Given the description of an element on the screen output the (x, y) to click on. 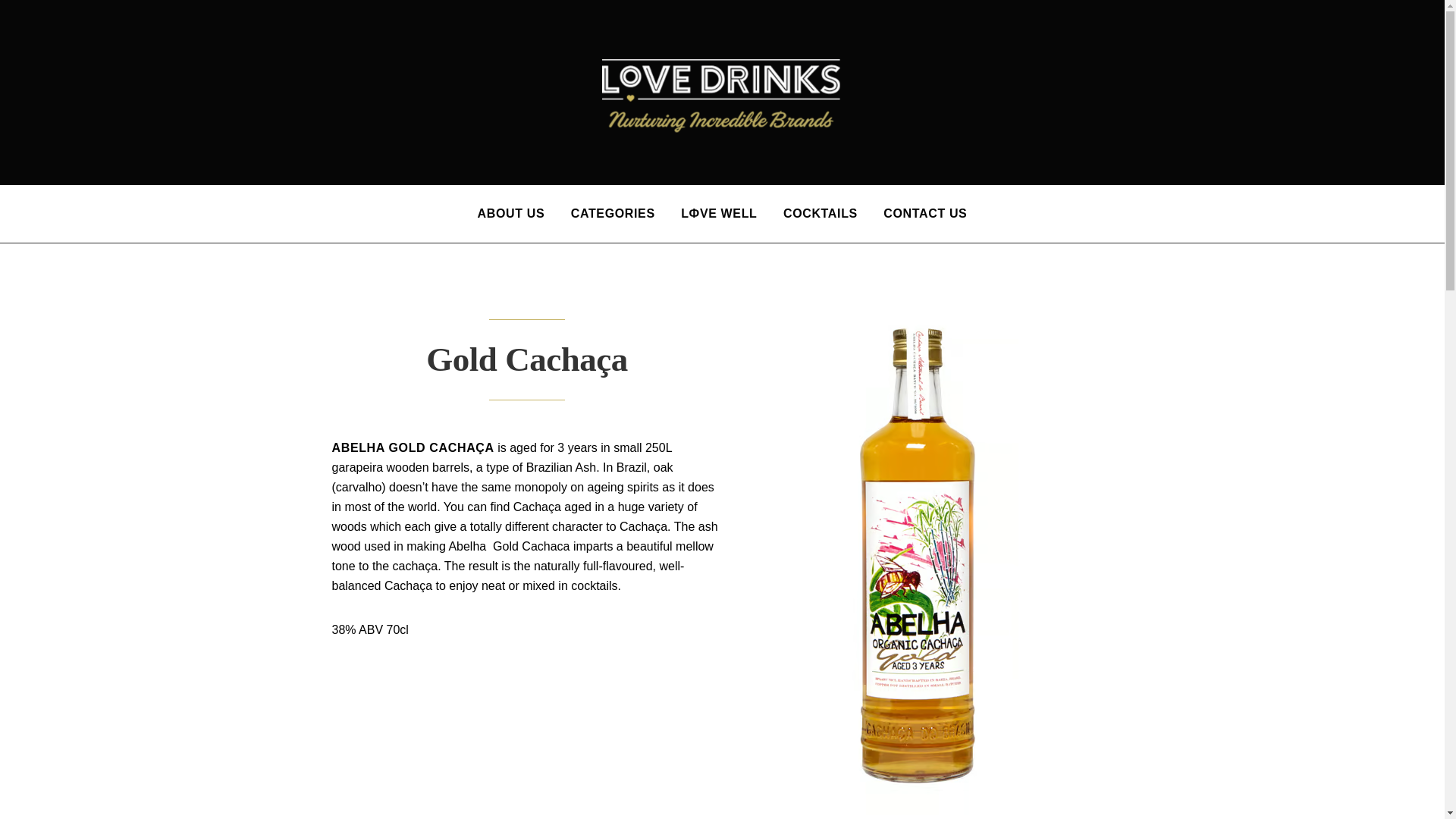
ABOUT US (510, 213)
COCKTAILS (820, 213)
CATEGORIES (612, 213)
CONTACT US (924, 213)
